Given the description of an element on the screen output the (x, y) to click on. 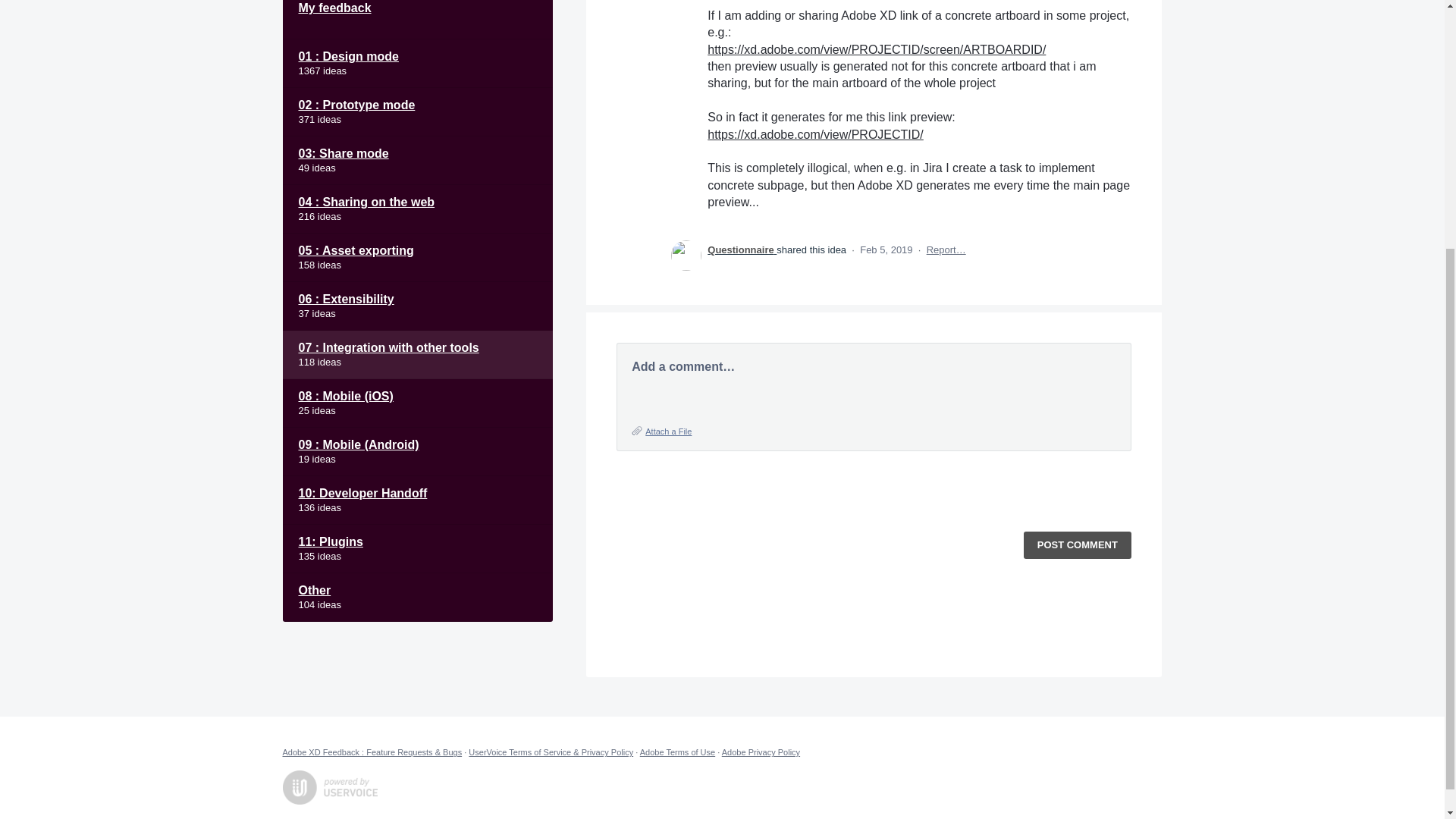
06 : Extensibility (417, 305)
07 : Integration with other tools (417, 354)
10: Developer Handoff (417, 499)
View all ideas in category 02 : Prototype mode (417, 111)
01 : Design mode (417, 63)
View all ideas in category 04 : Sharing on the web (417, 209)
02 : Prototype mode (417, 111)
View all ideas in category 06 : Extensibility (417, 305)
View all ideas in category 03: Share mode (417, 160)
View all ideas in category 01 : Design mode (417, 63)
04 : Sharing on the web (417, 209)
05 : Asset exporting (417, 257)
Questionnaire (741, 249)
View all ideas in category 05 : Asset exporting (417, 257)
View all ideas in category 07 : Integration with other tools (417, 354)
